Given the description of an element on the screen output the (x, y) to click on. 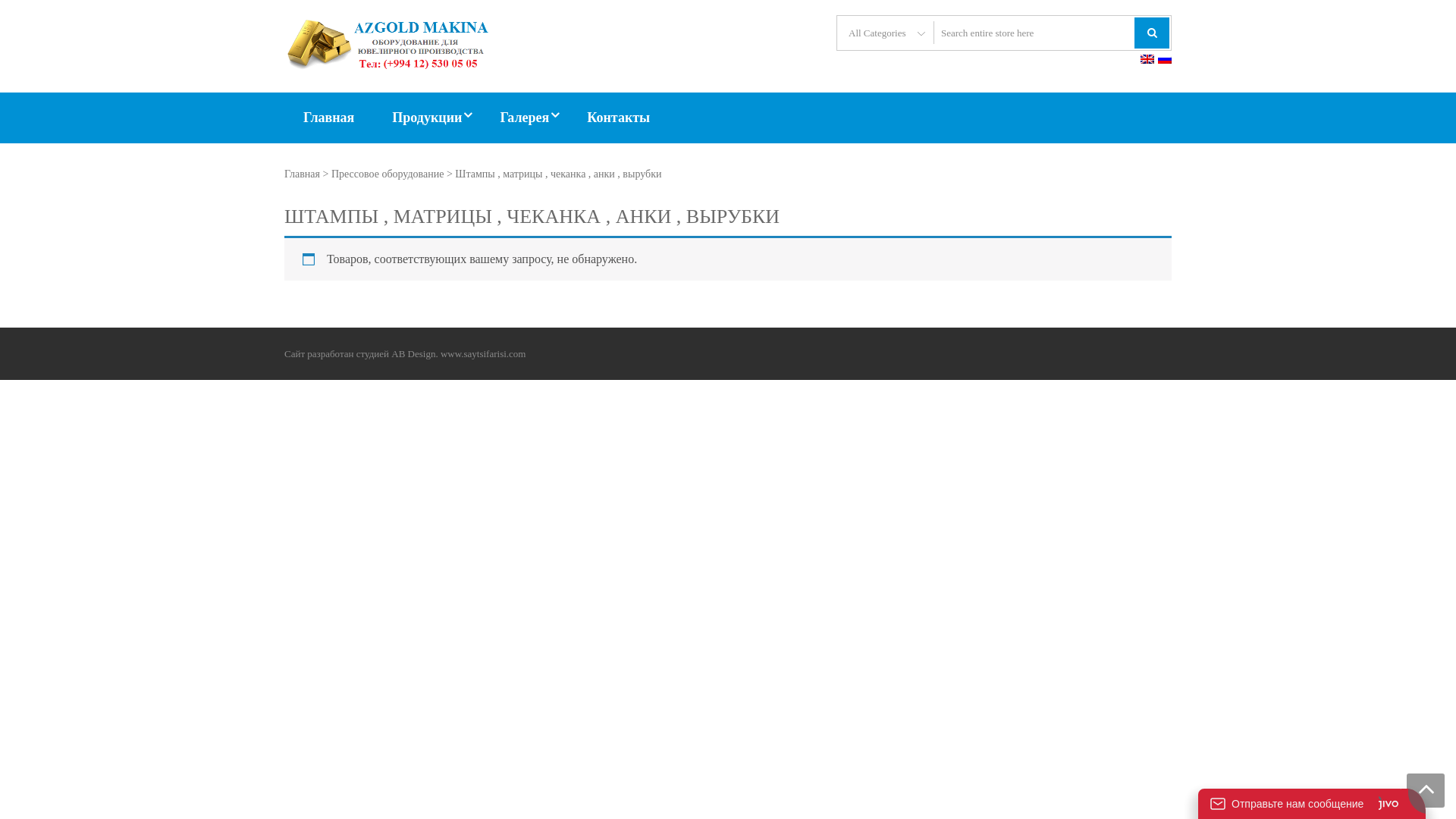
Skip to navigation Element type: text (0, 0)
English (en) Element type: hover (1147, 59)
